Given the description of an element on the screen output the (x, y) to click on. 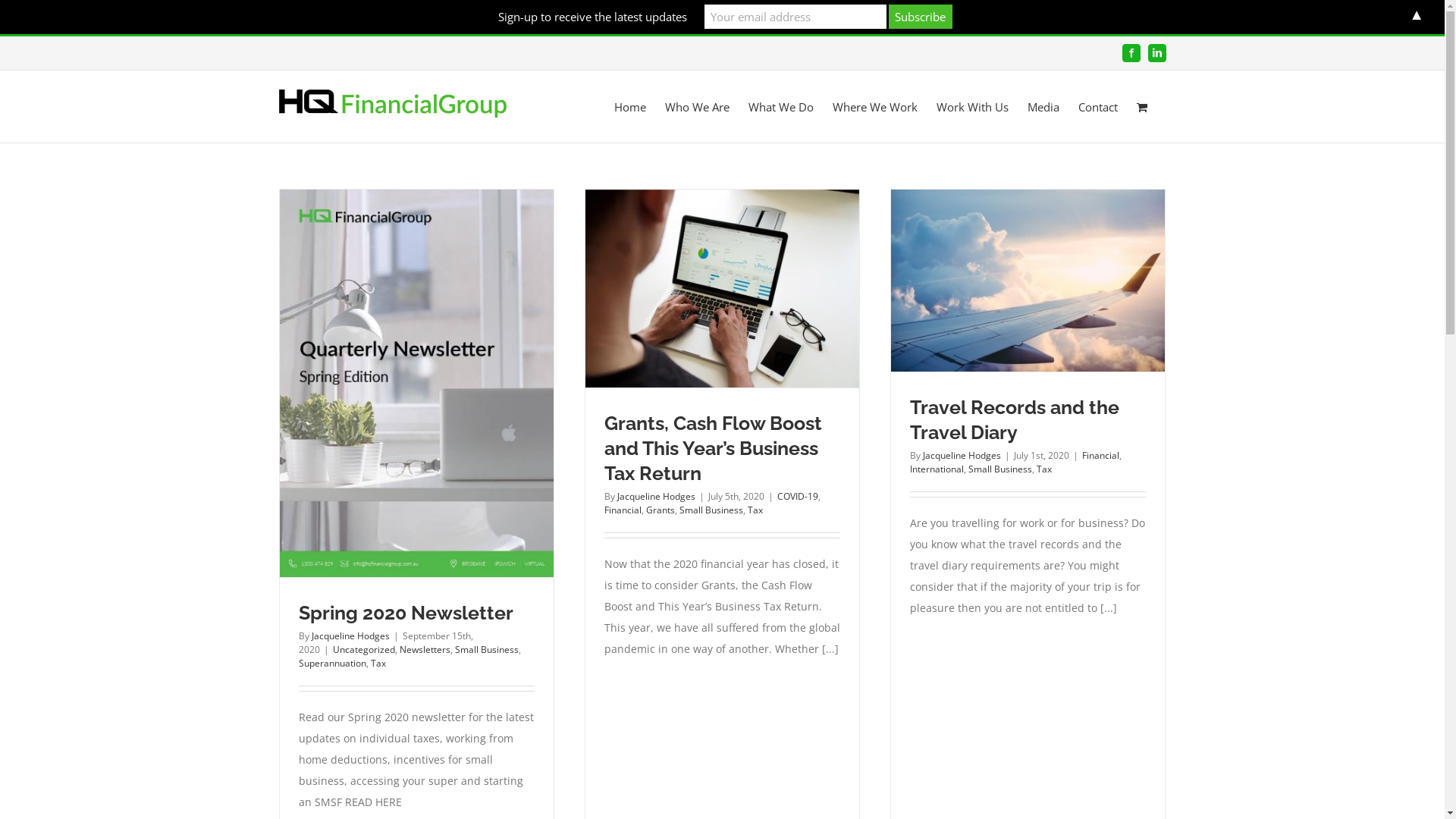
Facebook Element type: text (1131, 52)
Home Element type: text (630, 106)
Tax Element type: text (377, 662)
Media Element type: text (1042, 106)
Financial Element type: text (621, 509)
Small Business Element type: text (486, 649)
Superannuation Element type: text (332, 662)
Subscribe Element type: text (920, 16)
Uncategorized Element type: text (363, 649)
Travel Records and the Travel Diary Element type: text (1014, 419)
Financial Element type: text (1099, 454)
Small Business Element type: text (999, 468)
Jacqueline Hodges Element type: text (961, 454)
Small Business Element type: text (711, 509)
Who We Are Element type: text (696, 106)
Spring 2020 Newsletter Element type: text (405, 612)
Grants Element type: text (660, 509)
COVID-19 Element type: text (796, 495)
Contact Element type: text (1097, 106)
Tax Element type: text (754, 509)
LinkedIn Element type: text (1157, 52)
Newsletters Element type: text (423, 649)
Jacqueline Hodges Element type: text (349, 635)
Tax Element type: text (1043, 468)
Work With Us Element type: text (971, 106)
What We Do Element type: text (779, 106)
International Element type: text (936, 468)
Jacqueline Hodges Element type: text (656, 495)
Where We Work Element type: text (874, 106)
